Given the description of an element on the screen output the (x, y) to click on. 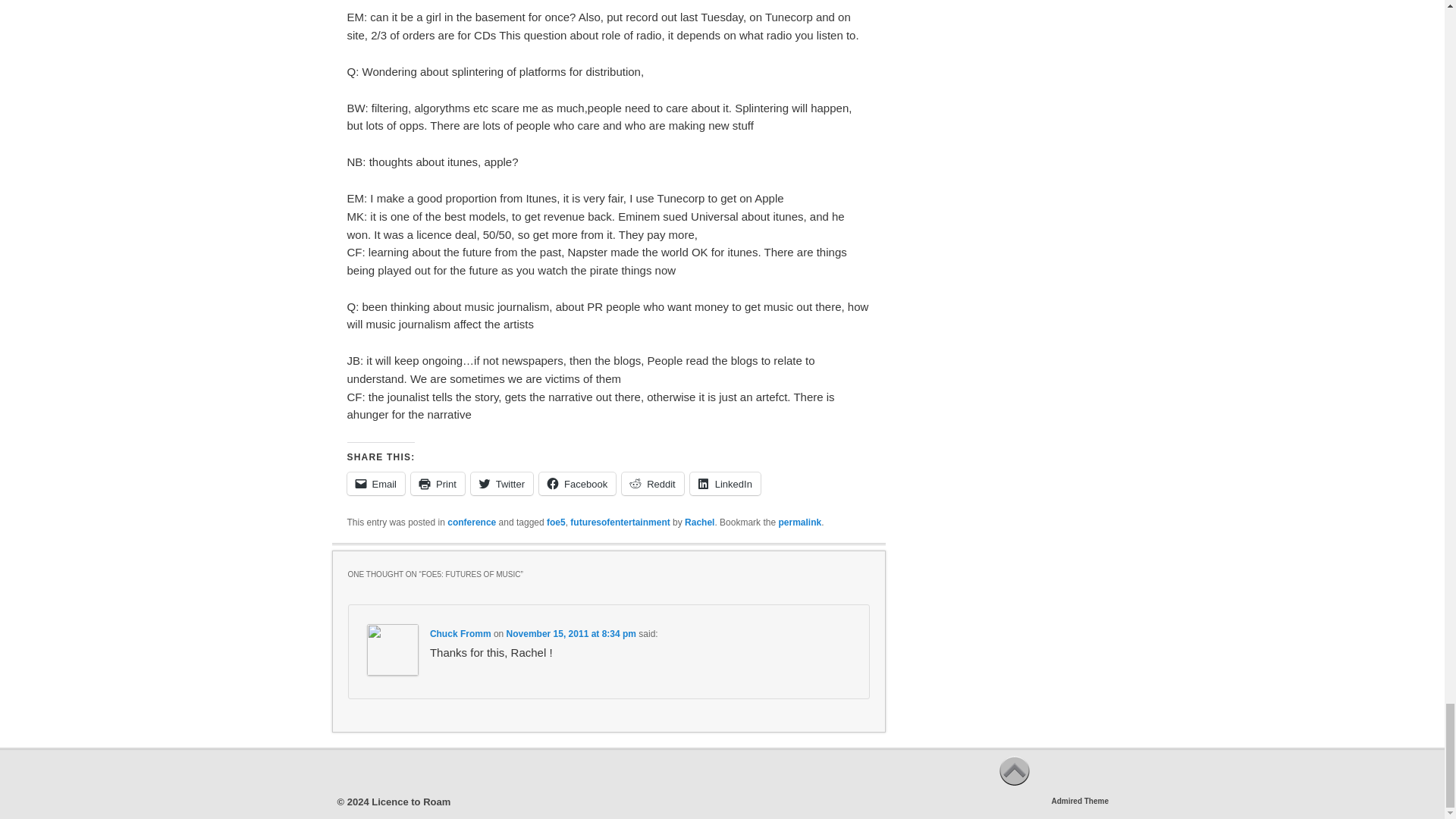
futuresofentertainment (619, 521)
conference (471, 521)
Permalink to FOE5: Futures of Music (799, 521)
Twitter (501, 483)
Click to share on Twitter (501, 483)
Reddit (652, 483)
Click to print (437, 483)
Facebook (576, 483)
permalink (799, 521)
Chuck Fromm (460, 633)
